Given the description of an element on the screen output the (x, y) to click on. 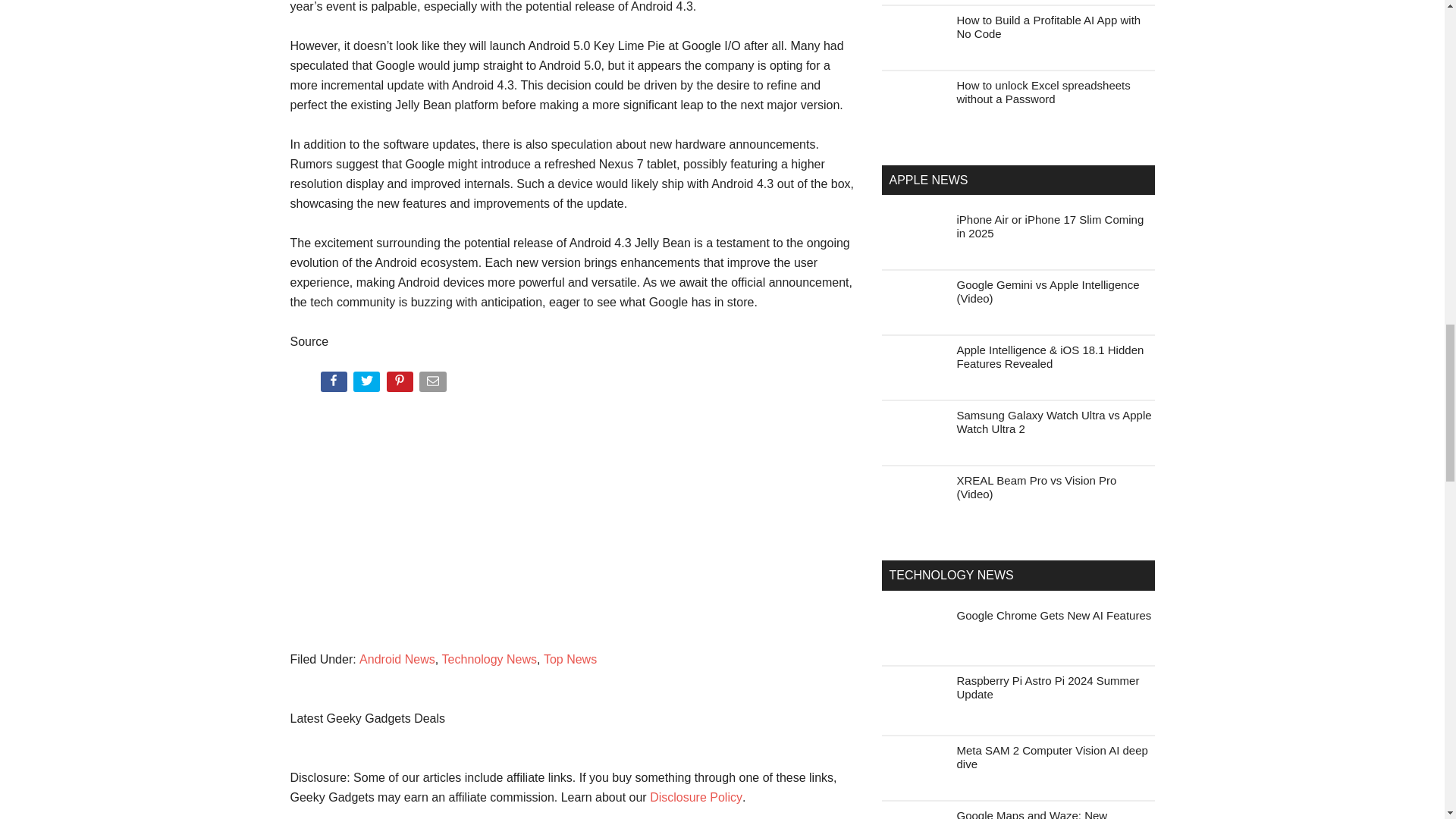
Tweet (367, 384)
Top News (569, 658)
Android News (397, 658)
Pin (401, 384)
Email (433, 384)
Share on Facebook (334, 384)
Disclosure Policy (695, 797)
Technology News (489, 658)
